Given the description of an element on the screen output the (x, y) to click on. 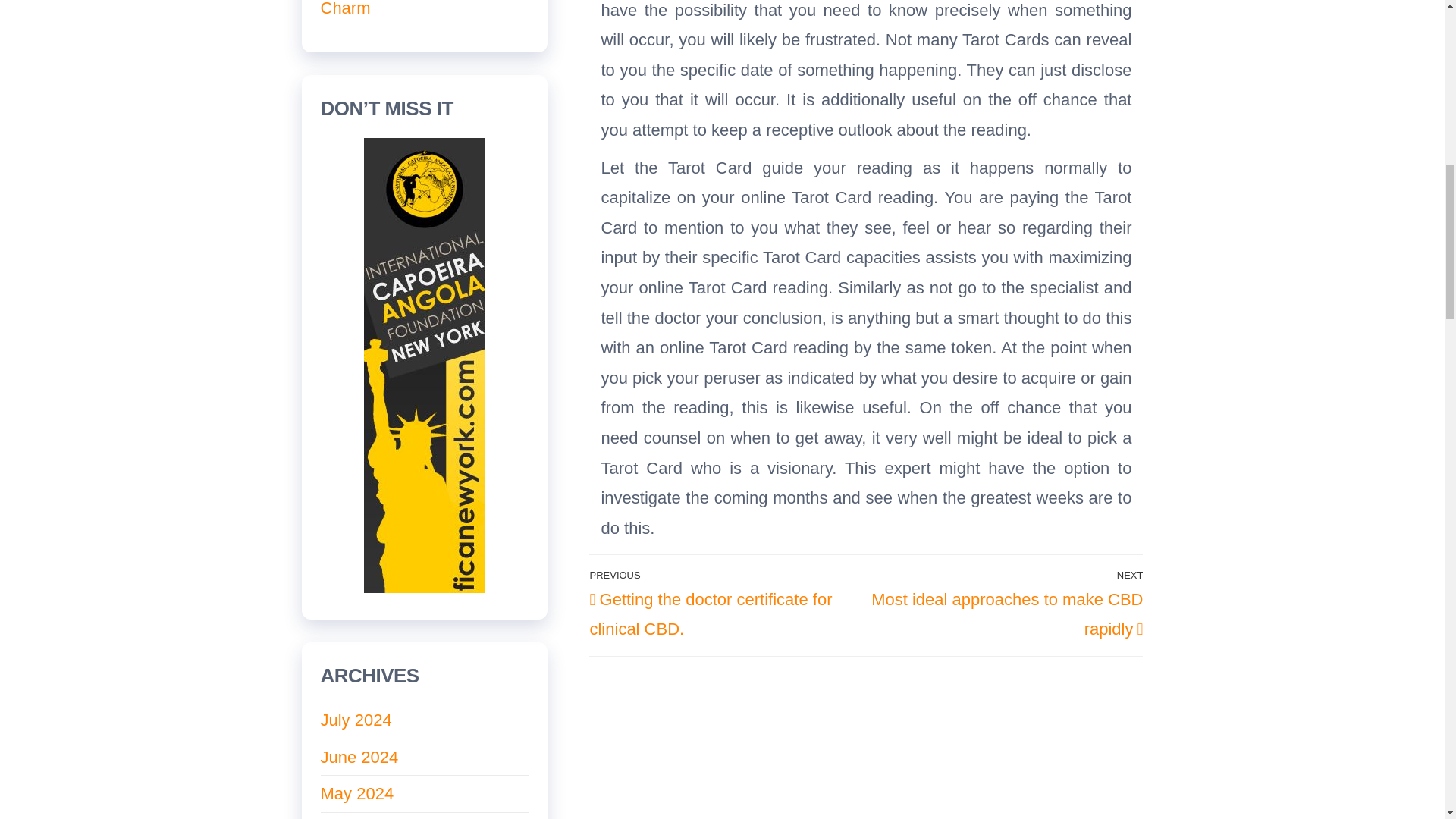
June 2024 (358, 756)
July 2024 (355, 719)
May 2024 (356, 793)
